Given the description of an element on the screen output the (x, y) to click on. 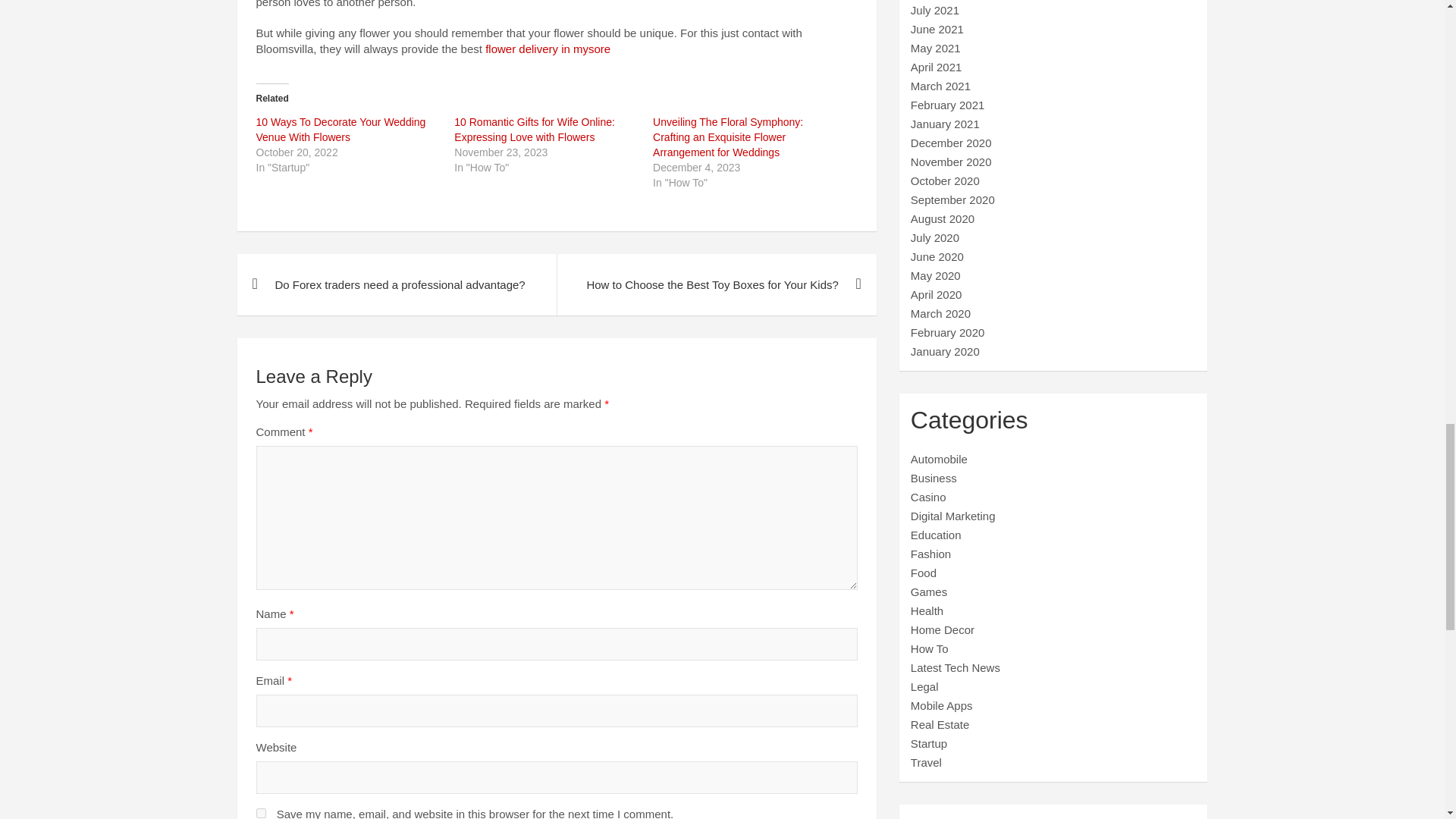
10 Ways To Decorate Your Wedding Venue With Flowers (341, 129)
10 Ways To Decorate Your Wedding Venue With Flowers (341, 129)
yes (261, 813)
Do Forex traders need a professional advantage? (395, 284)
flower delivery in mysore (547, 48)
How to Choose the Best Toy Boxes for Your Kids? (716, 284)
